Given the description of an element on the screen output the (x, y) to click on. 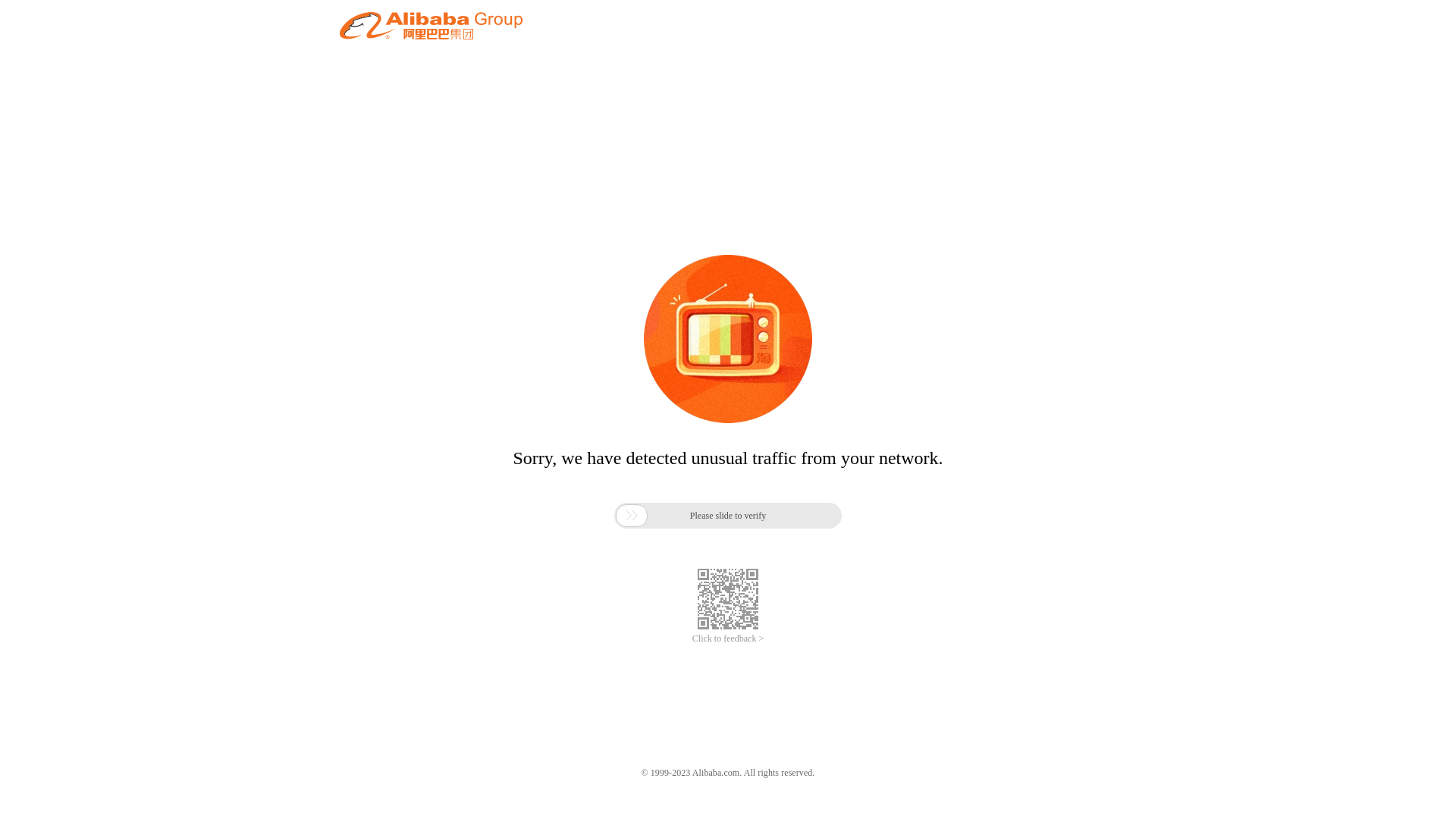
Click to feedback > Element type: text (727, 638)
